Given the description of an element on the screen output the (x, y) to click on. 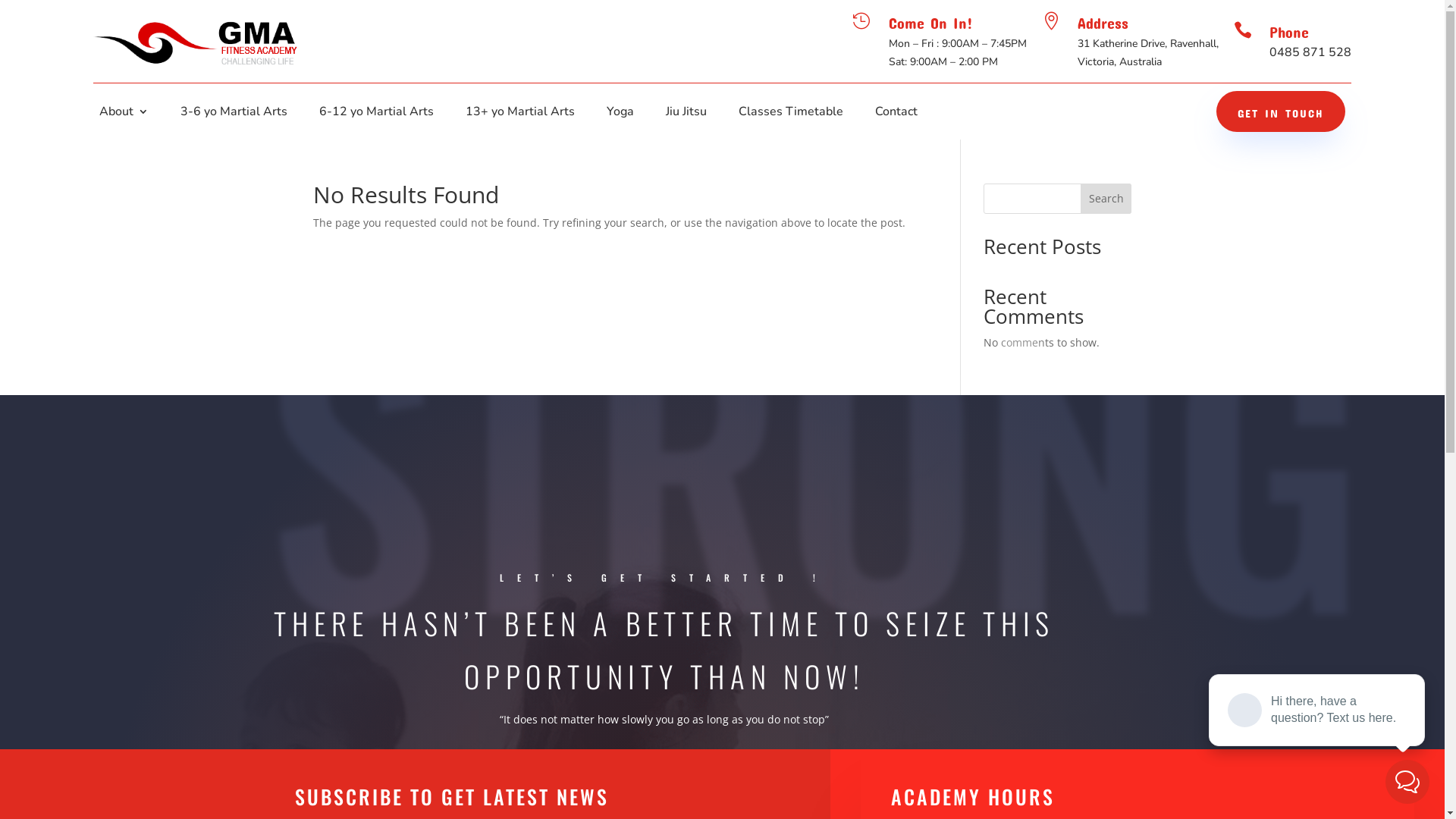
6-12 yo Martial Arts Element type: text (376, 114)
About Element type: text (123, 114)
0485 871 528 Element type: text (1310, 51)
Jiu Jitsu Element type: text (685, 114)
Classes Timetable Element type: text (790, 114)
Search Element type: text (1106, 198)
13+ yo Martial Arts Element type: text (519, 114)
Yoga Element type: text (619, 114)
Contact Element type: text (896, 114)
GET IN TOUCH Element type: text (1280, 111)
3-6 yo Martial Arts Element type: text (233, 114)
logo- Element type: hover (196, 41)
